Given the description of an element on the screen output the (x, y) to click on. 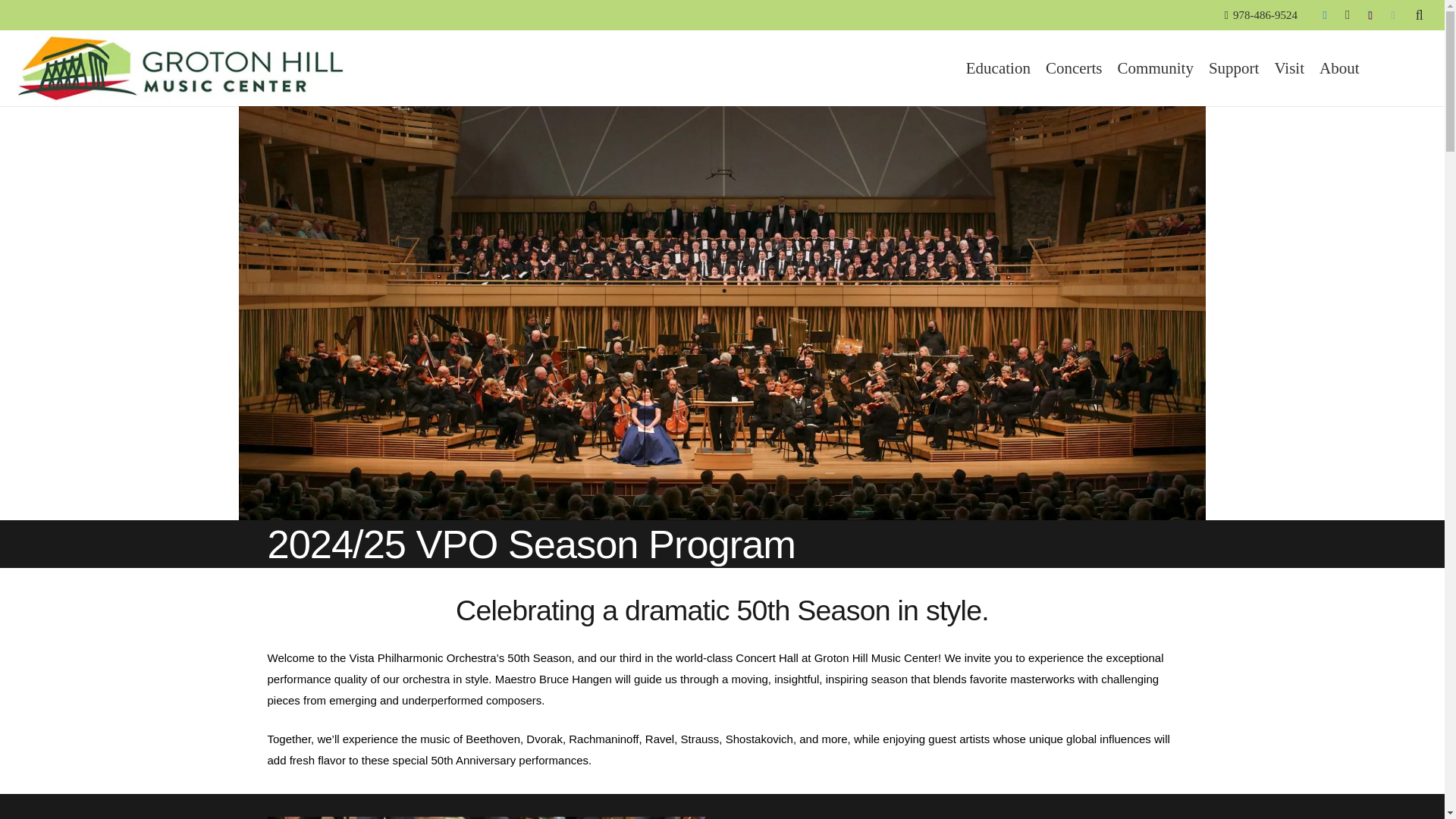
Education (998, 68)
Email (1393, 15)
978-486-9524 (1260, 15)
Instagram (1347, 15)
Facebook (1324, 15)
Concerts (1073, 68)
Community (1155, 68)
TikTok (1369, 15)
